Given the description of an element on the screen output the (x, y) to click on. 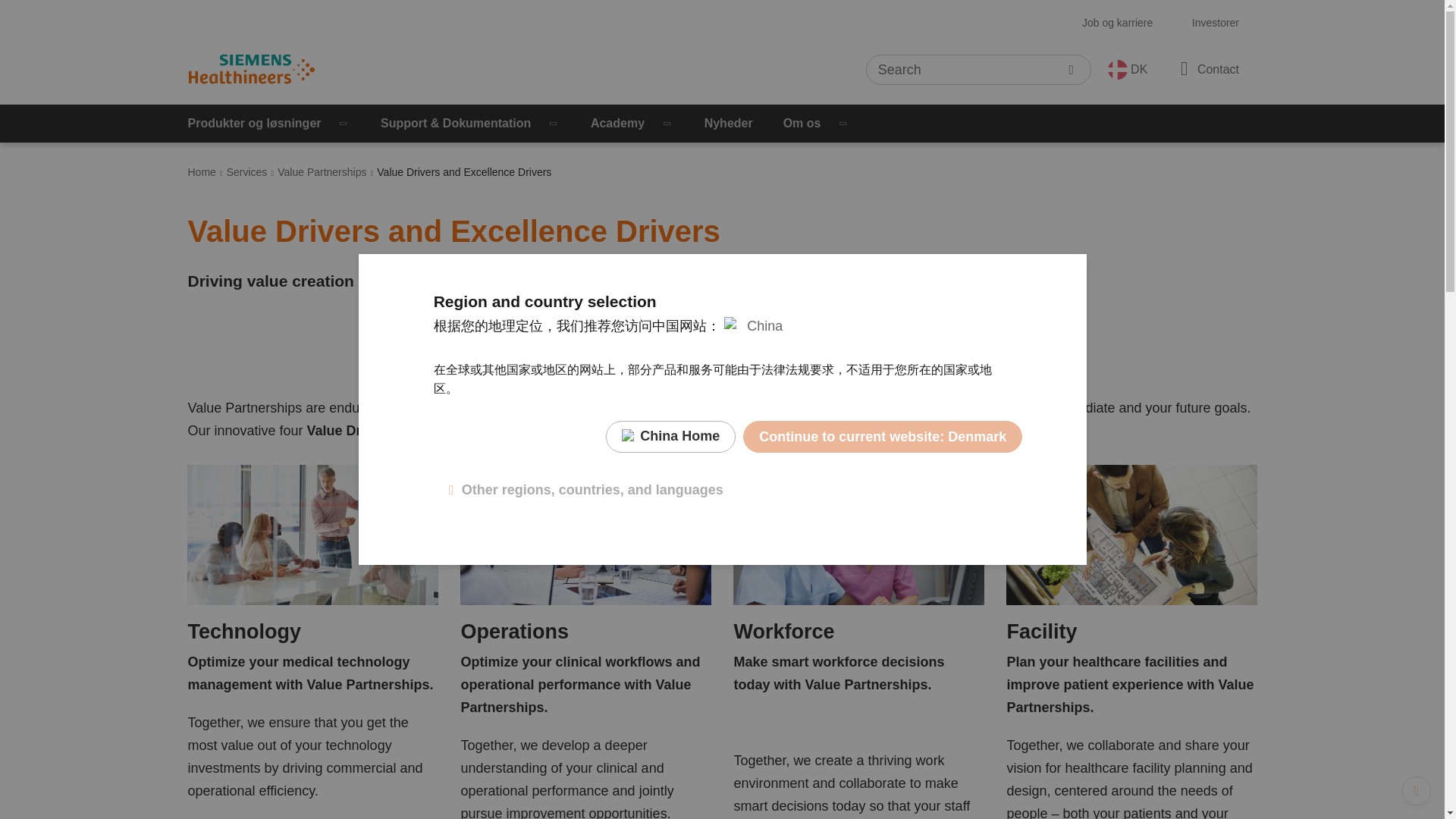
China (753, 325)
DK (1128, 69)
Continue to current website: Denmark (882, 436)
Investorer (1215, 22)
Other regions, countries, and languages (585, 489)
Services (247, 172)
Academy (631, 123)
Job og karriere (1117, 22)
Nyheder (728, 123)
Om os (816, 123)
Value Partnerships (322, 172)
Home (201, 172)
China Home (670, 436)
Contact (1206, 69)
Learn more (231, 818)
